Given the description of an element on the screen output the (x, y) to click on. 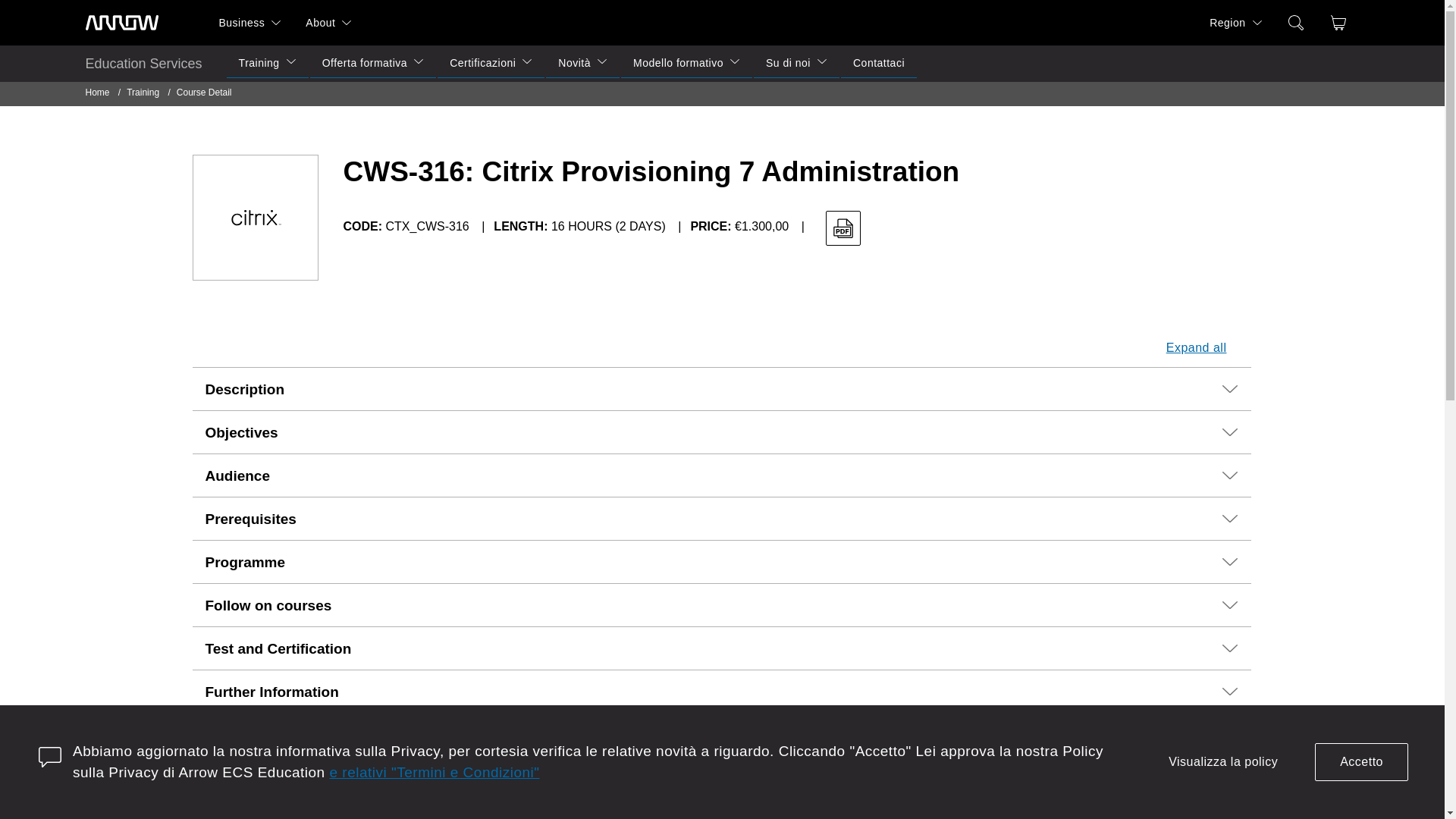
About (314, 22)
Business (235, 22)
Region (1220, 22)
Download PDF (842, 227)
